Given the description of an element on the screen output the (x, y) to click on. 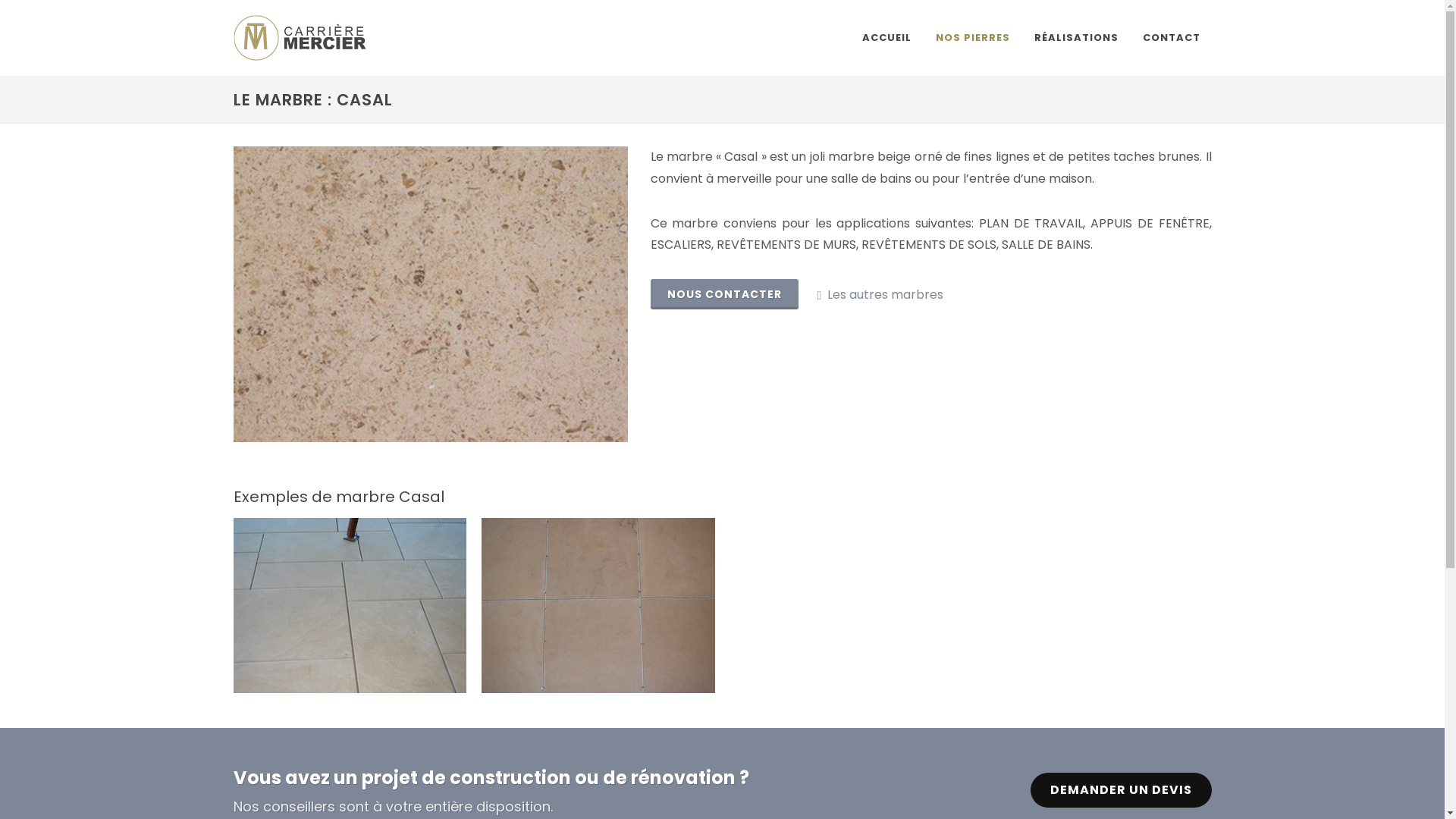
NOS PIERRES Element type: text (971, 37)
NOUS CONTACTER Element type: text (724, 294)
DEMANDER UN DEVIS Element type: text (1120, 789)
ACCUEIL Element type: text (886, 37)
  Les autres marbres Element type: text (879, 294)
CONTACT Element type: text (1171, 37)
